Given the description of an element on the screen output the (x, y) to click on. 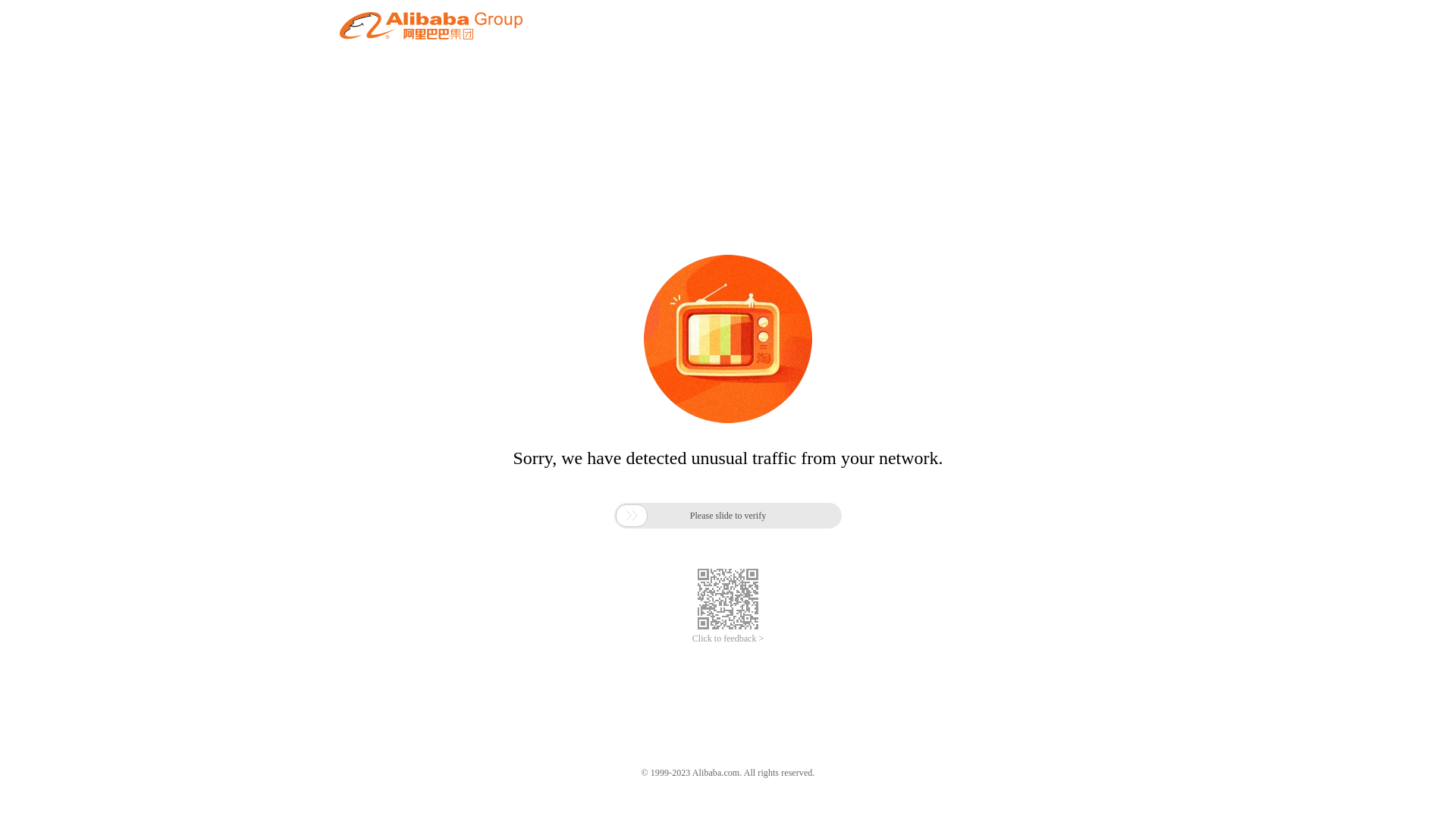
Click to feedback > Element type: text (727, 638)
